Given the description of an element on the screen output the (x, y) to click on. 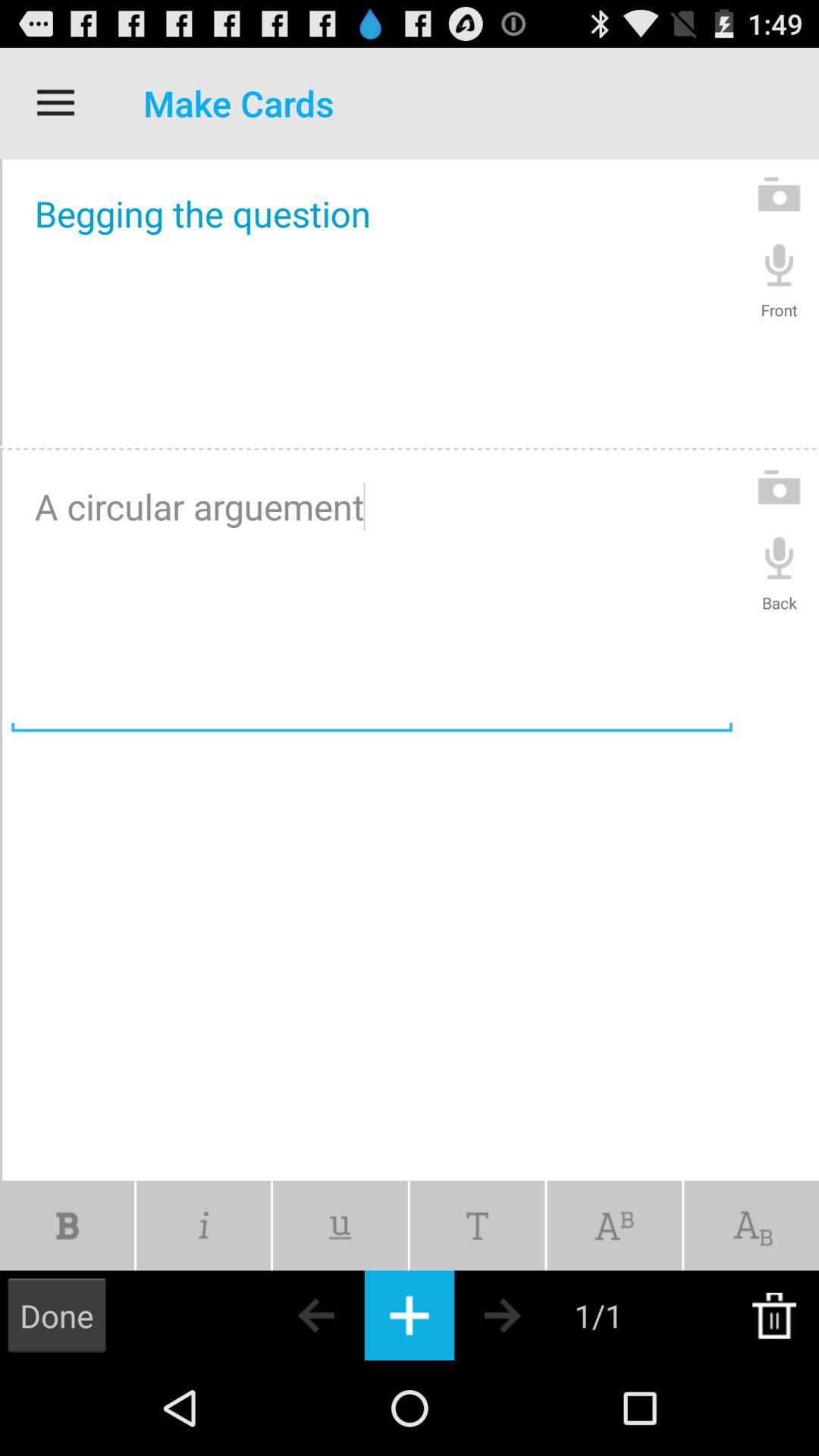
choose the done icon (56, 1315)
